Given the description of an element on the screen output the (x, y) to click on. 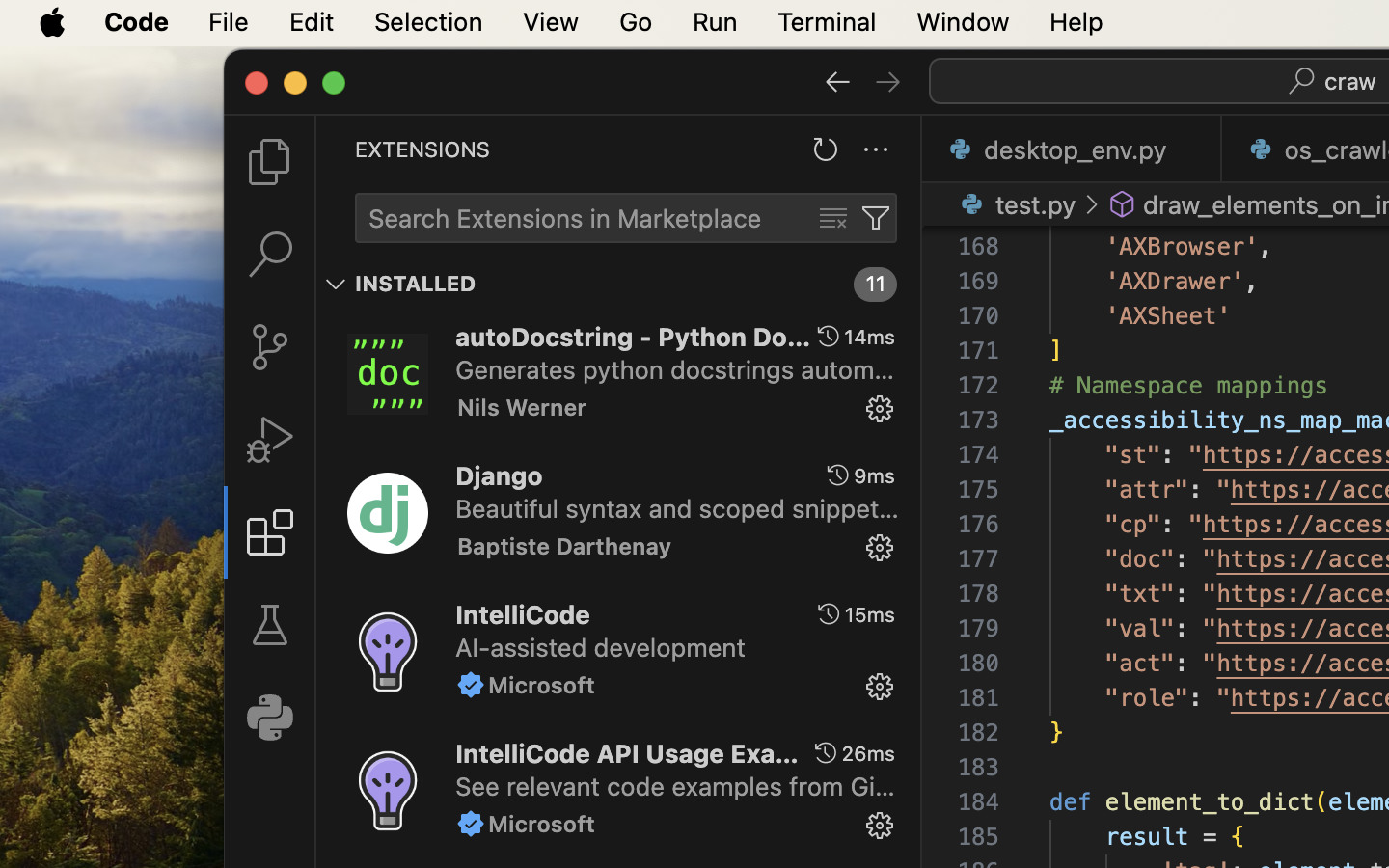
 Element type: AXButton (833, 217)
 Element type: AXStaticText (1091, 204)
Beautiful syntax and scoped snippets for perfectionists with deadlines Element type: AXStaticText (676, 507)
craw Element type: AXStaticText (1351, 80)
 Element type: AXStaticText (1122, 204)
